Given the description of an element on the screen output the (x, y) to click on. 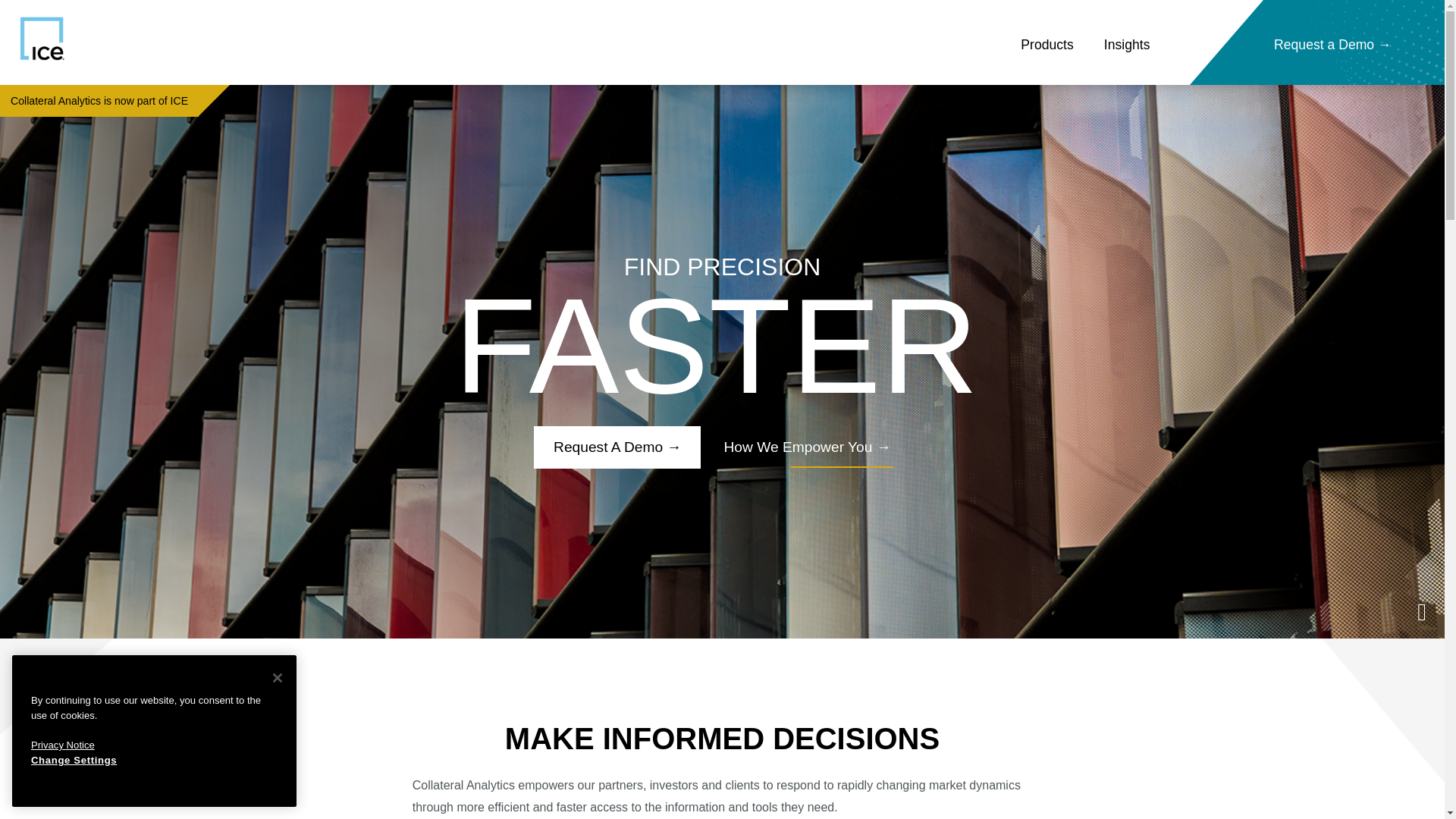
Products (1047, 44)
Request A Demo (617, 446)
Collateral Analytics (124, 37)
How We Empower You (807, 446)
Insights (1126, 44)
Pause Slider (722, 612)
